Given the description of an element on the screen output the (x, y) to click on. 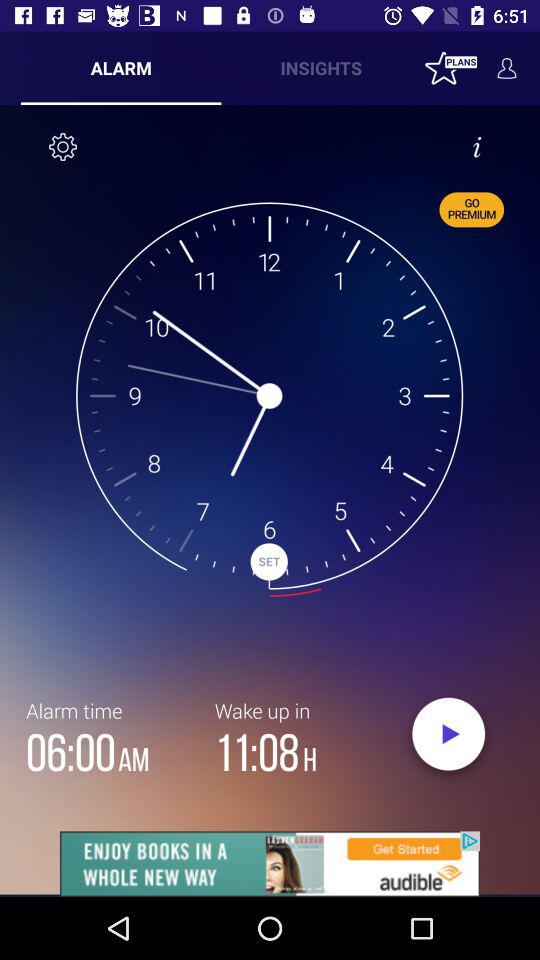
add more (270, 864)
